Given the description of an element on the screen output the (x, y) to click on. 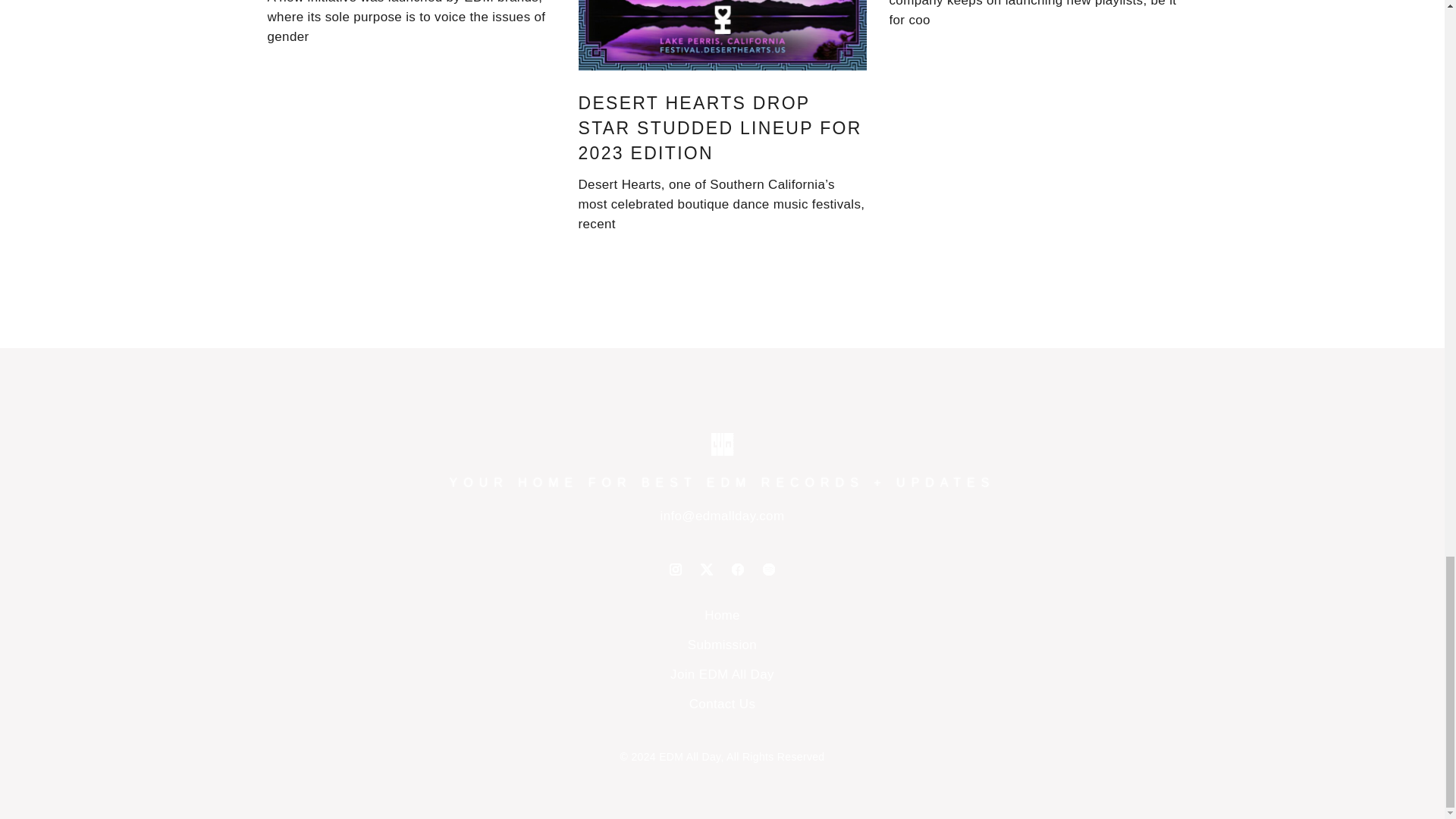
DESERT HEARTS DROP STAR STUDDED LINEUP FOR 2023 EDITION (719, 127)
Home (721, 615)
EDM All Day (689, 756)
Join EDM All Day (721, 674)
Contact Us (721, 703)
Submission (722, 644)
